Given the description of an element on the screen output the (x, y) to click on. 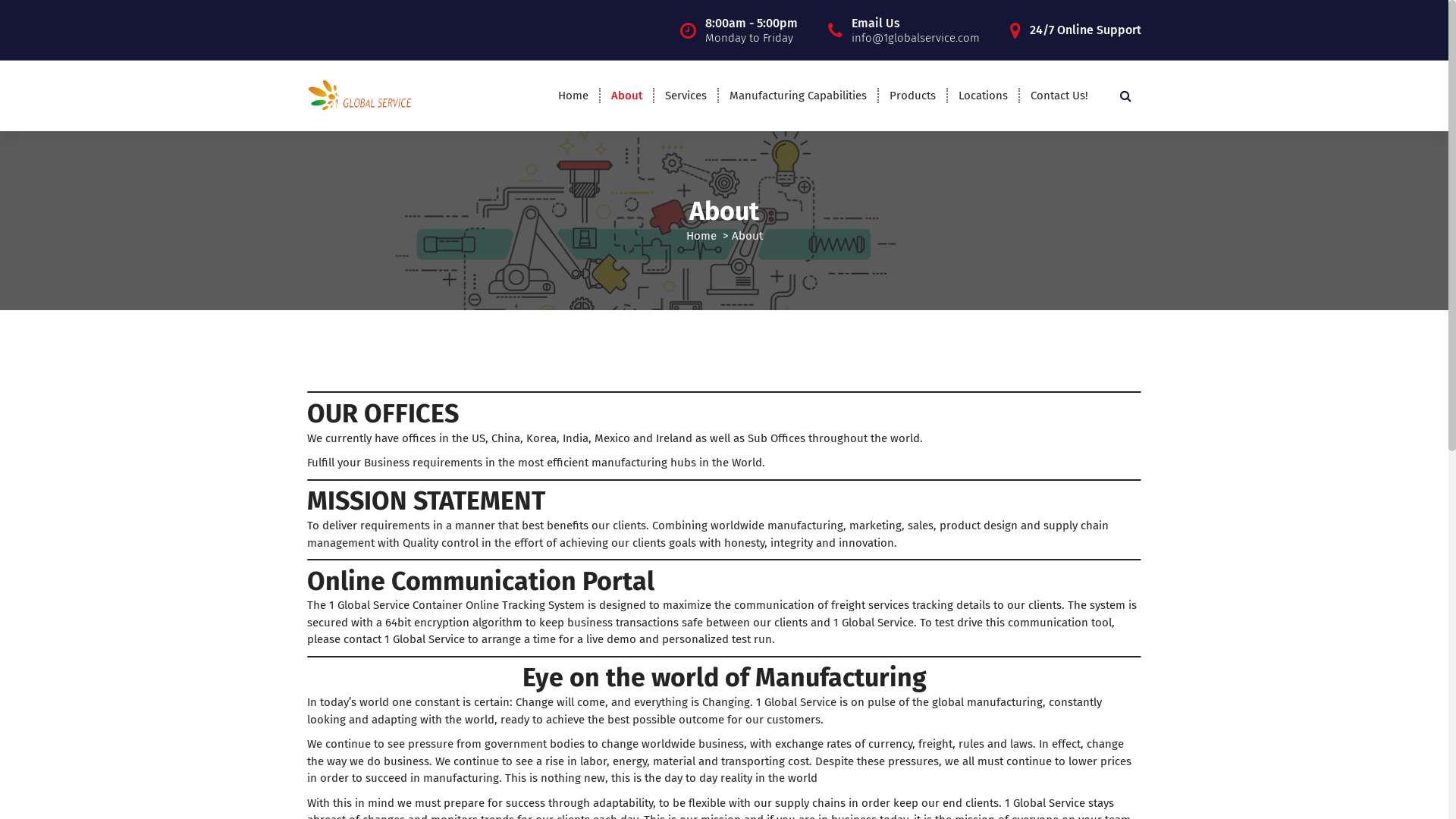
Contact Us! Element type: text (1059, 95)
Locations Element type: text (982, 95)
Manufacturing Capabilities Element type: text (797, 95)
8:00am - 5:00pm
Monday to Friday Element type: text (751, 29)
Home Element type: text (700, 235)
Products Element type: text (912, 95)
Services Element type: text (685, 95)
Email Us
info@1globalservice.com Element type: text (915, 29)
Home Element type: text (573, 95)
24/7 Online Support Element type: text (1085, 29)
About Element type: text (626, 95)
